Given the description of an element on the screen output the (x, y) to click on. 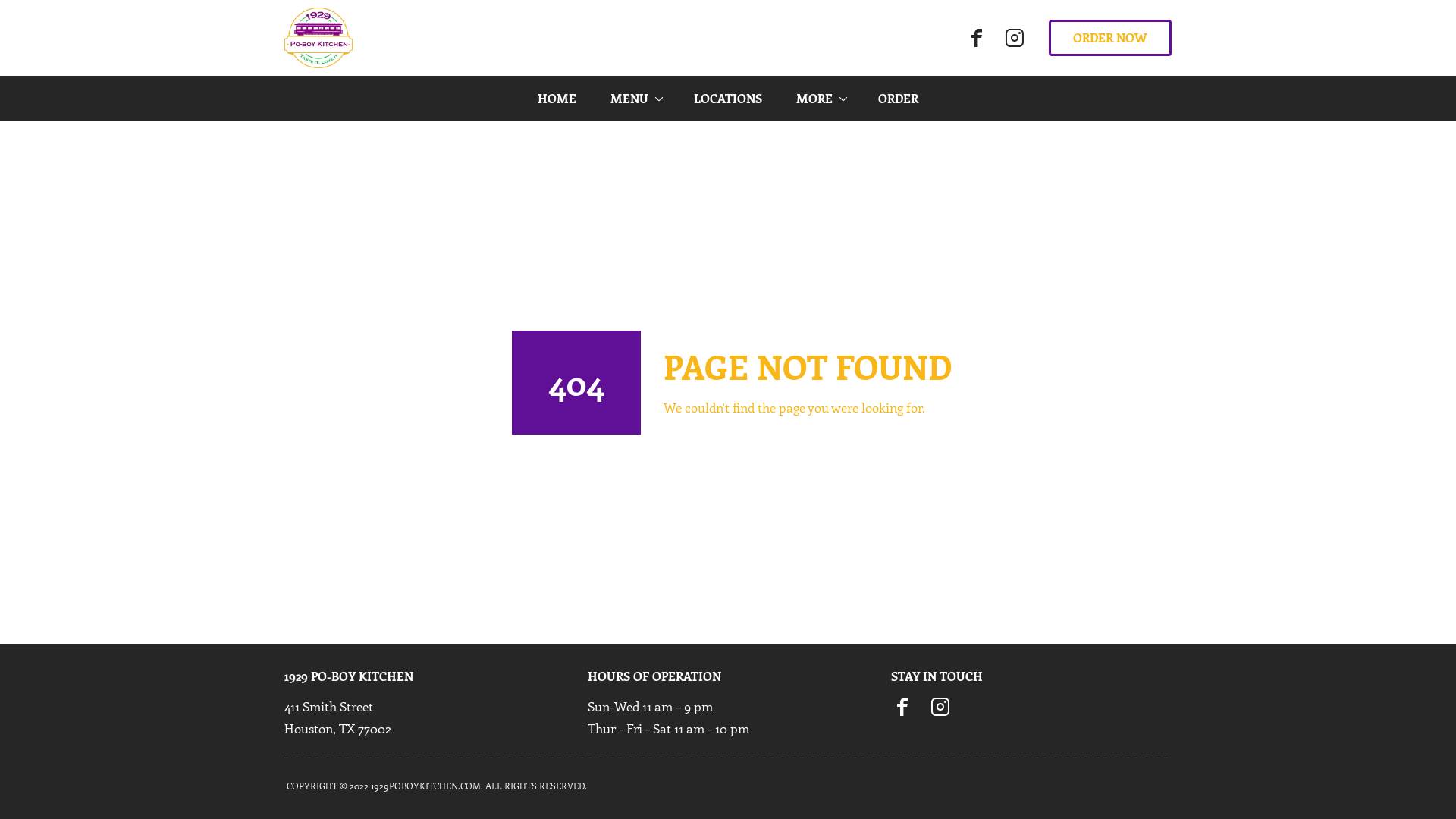
HOME Element type: text (556, 98)
MENU Element type: text (635, 98)
LOCATIONS Element type: text (727, 98)
ORDER Element type: text (897, 98)
Thur - Fri - Sat 11 am - 10 pm Element type: text (668, 728)
MORE Element type: text (819, 98)
ORDER NOW Element type: text (1109, 37)
